Given the description of an element on the screen output the (x, y) to click on. 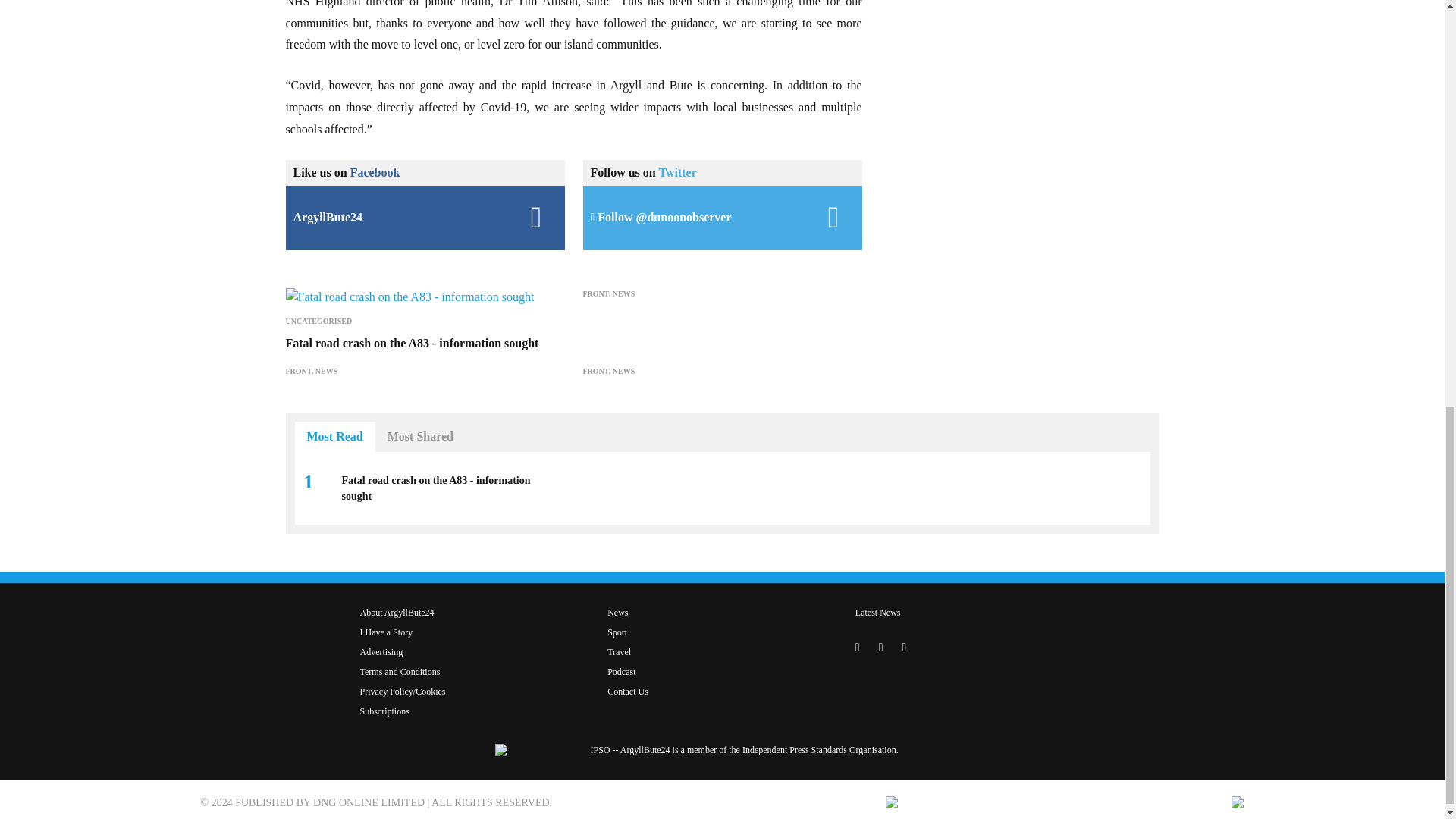
NEWS (623, 293)
FRONT (595, 293)
UNCATEGORISED (318, 320)
FRONT (298, 370)
Fatal road crash on the A83 - information sought (411, 342)
